Given the description of an element on the screen output the (x, y) to click on. 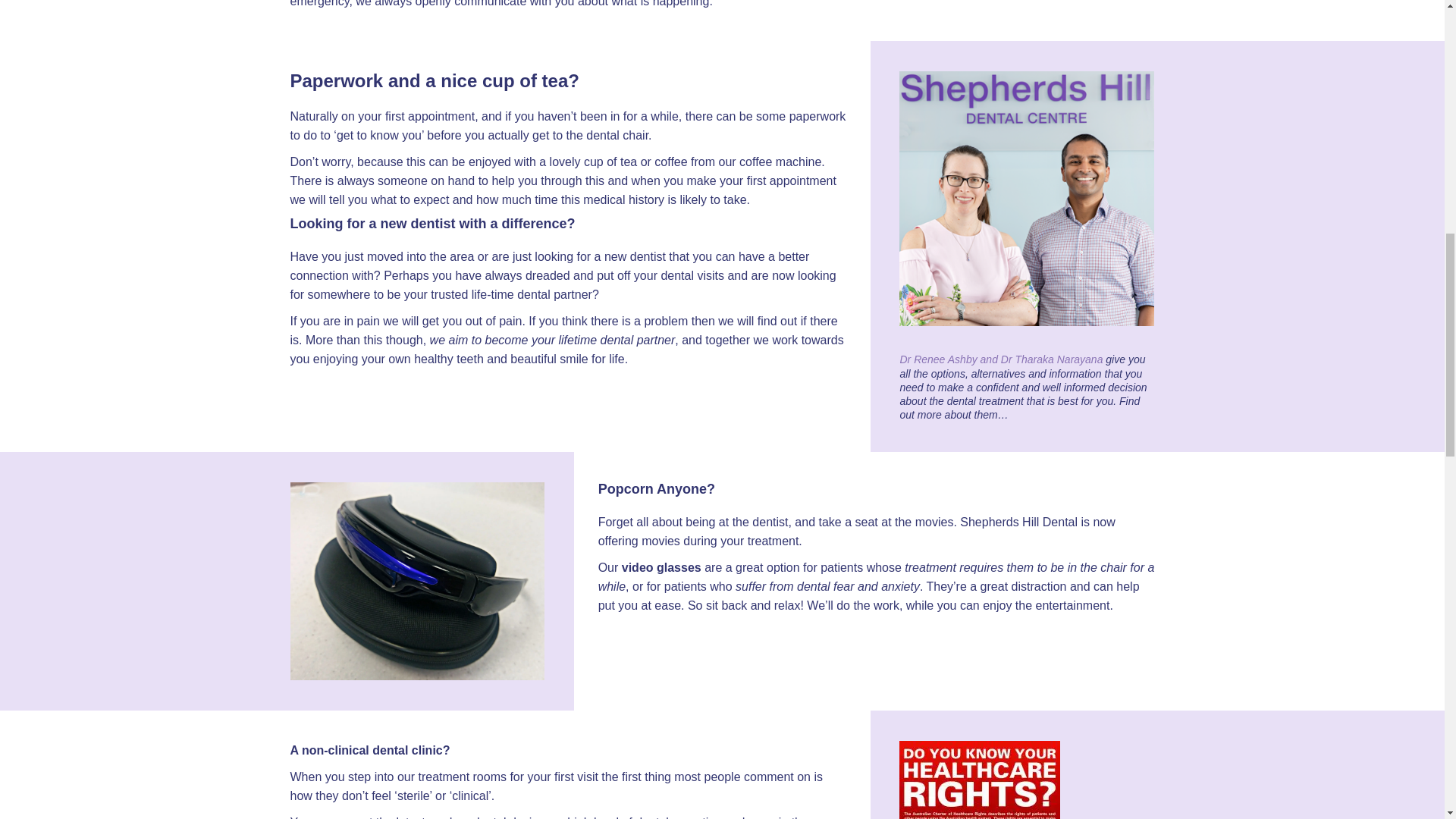
Australian Charter of Healthcare Rights A3 poster (979, 780)
